Given the description of an element on the screen output the (x, y) to click on. 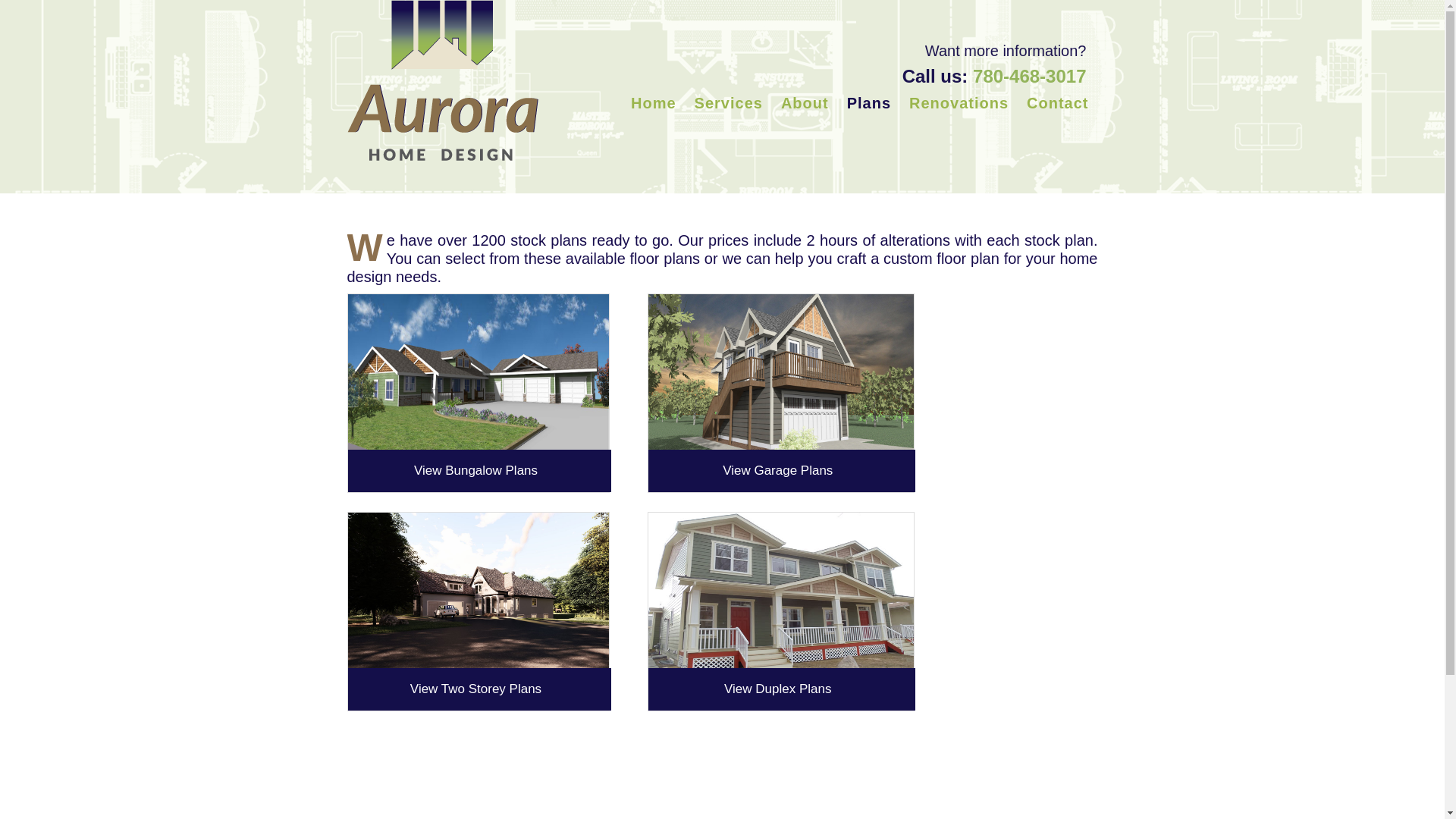
View Duplex Plans   Element type: text (780, 689)
Plans Element type: text (868, 103)
View Garage Plans   Element type: text (780, 470)
780-468-3017 Element type: text (1028, 75)
Contact Element type: text (1057, 103)
Home Element type: text (653, 103)
View Bungalow Plans   Element type: text (478, 470)
About Element type: text (804, 103)
Renovations Element type: text (958, 103)
View Two Storey Plans   Element type: text (478, 689)
Services Element type: text (728, 103)
